Given the description of an element on the screen output the (x, y) to click on. 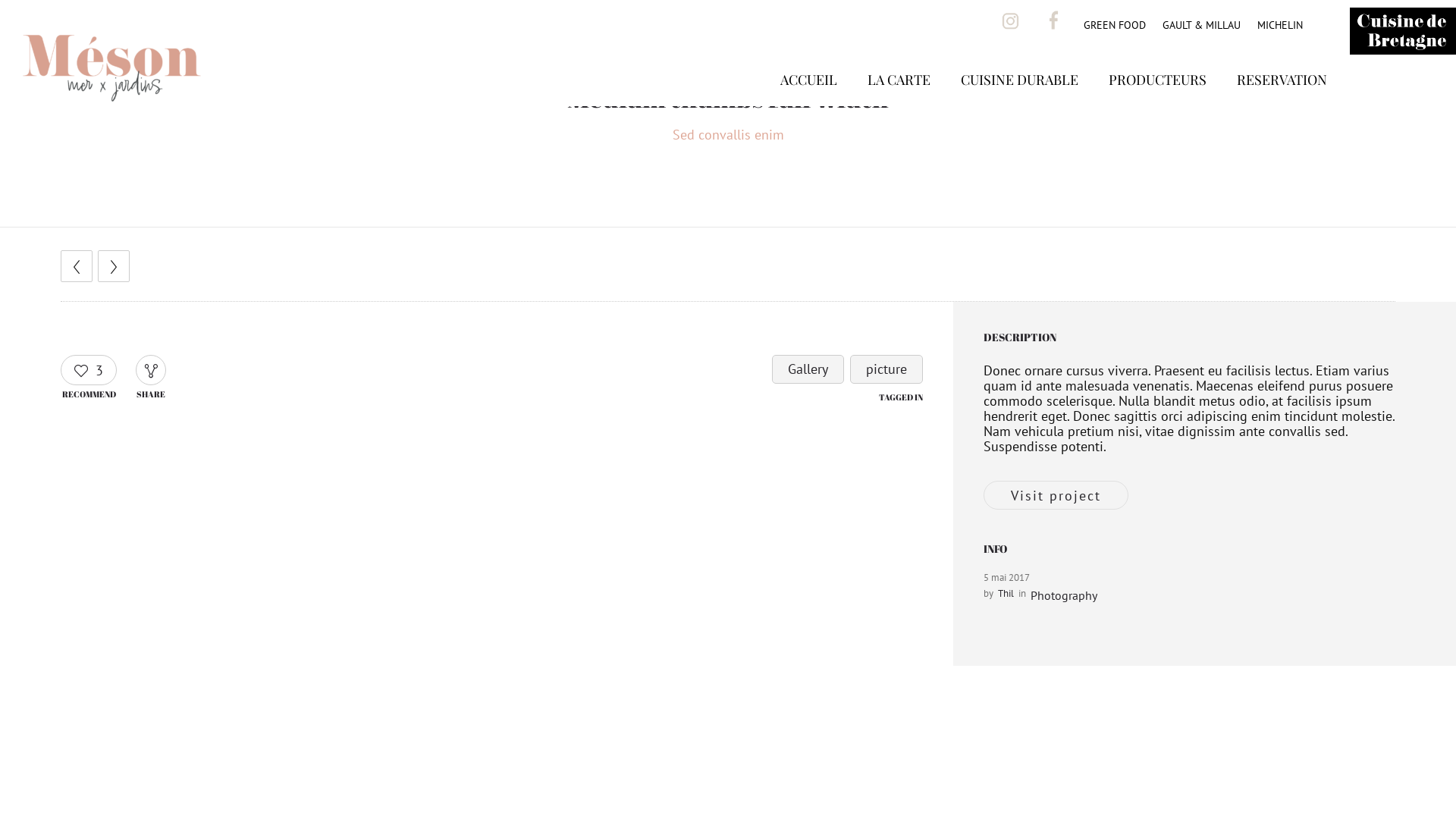
RESERVATION Element type: text (1281, 102)
LA CARTE Element type: text (898, 102)
GREEN FOOD Element type: text (1114, 24)
MICHELIN Element type: text (1279, 24)
Thil Element type: text (1005, 593)
Gallery Element type: text (807, 368)
Visit project Element type: text (1055, 494)
Photography Element type: text (1063, 595)
PRODUCTEURS Element type: text (1157, 102)
picture Element type: text (886, 368)
ACCUEIL Element type: text (808, 102)
GAULT & MILLAU Element type: text (1201, 24)
CUISINE DURABLE Element type: text (1019, 102)
